Given the description of an element on the screen output the (x, y) to click on. 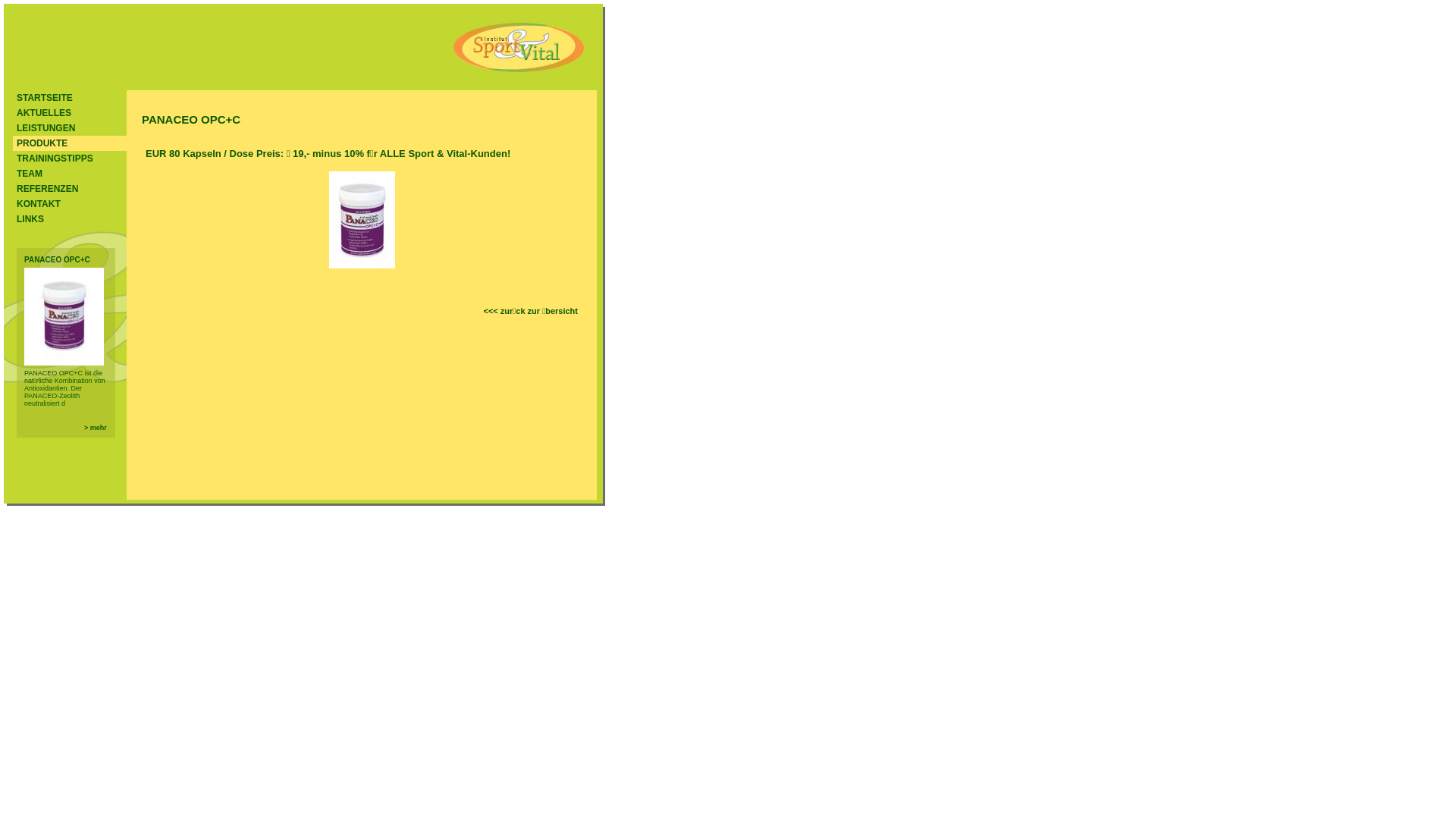
> mehr Element type: text (95, 427)
REFERENZEN Element type: text (69, 188)
PRODUKTE Element type: text (69, 142)
LINKS Element type: text (69, 218)
TEAM Element type: text (69, 173)
LEISTUNGEN Element type: text (69, 127)
KONTAKT Element type: text (69, 203)
AKTUELLES Element type: text (69, 112)
TRAININGSTIPPS Element type: text (69, 158)
STARTSEITE Element type: text (69, 97)
